Given the description of an element on the screen output the (x, y) to click on. 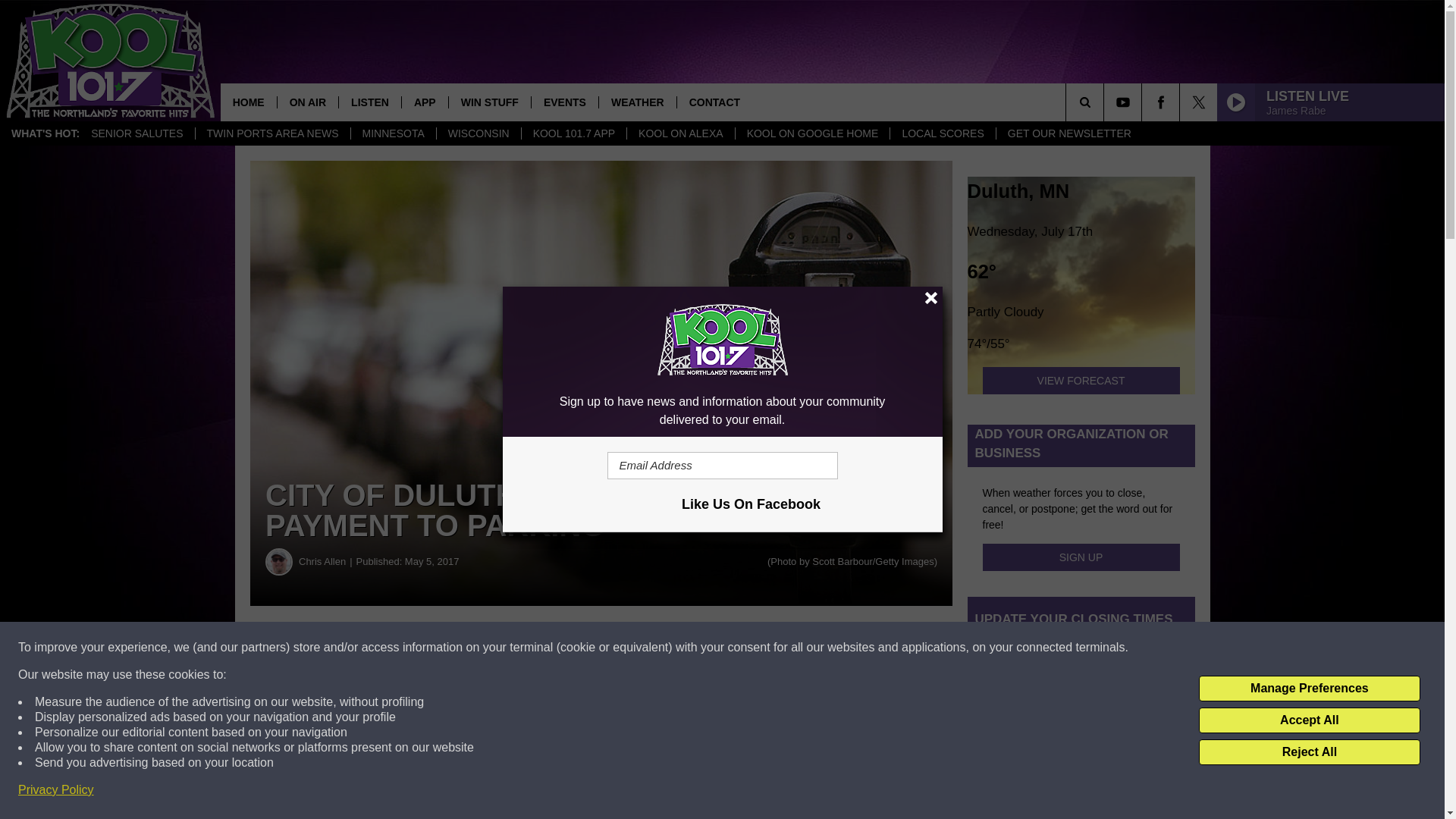
ON AIR (306, 102)
HOME (248, 102)
EVENTS (564, 102)
LOCAL SCORES (941, 133)
Share on Facebook (460, 647)
Accept All (1309, 720)
MINNESOTA (392, 133)
Reject All (1309, 751)
Email Address (722, 465)
Manage Preferences (1309, 688)
Privacy Policy (55, 789)
KOOL ON ALEXA (680, 133)
GET OUR NEWSLETTER (1068, 133)
KOOL ON GOOGLE HOME (812, 133)
SEARCH (1106, 102)
